Given the description of an element on the screen output the (x, y) to click on. 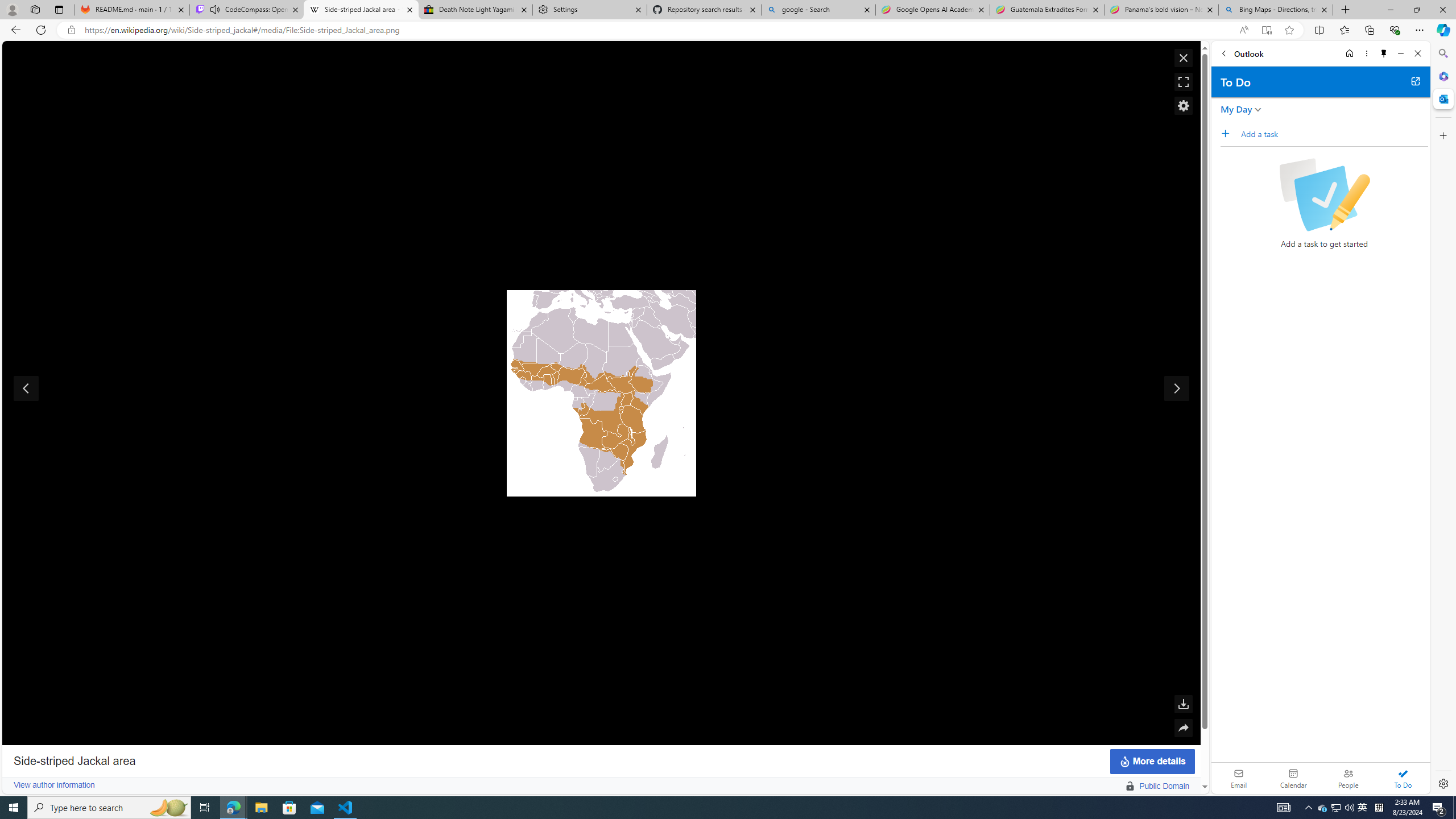
Download this file (1183, 704)
